Given the description of an element on the screen output the (x, y) to click on. 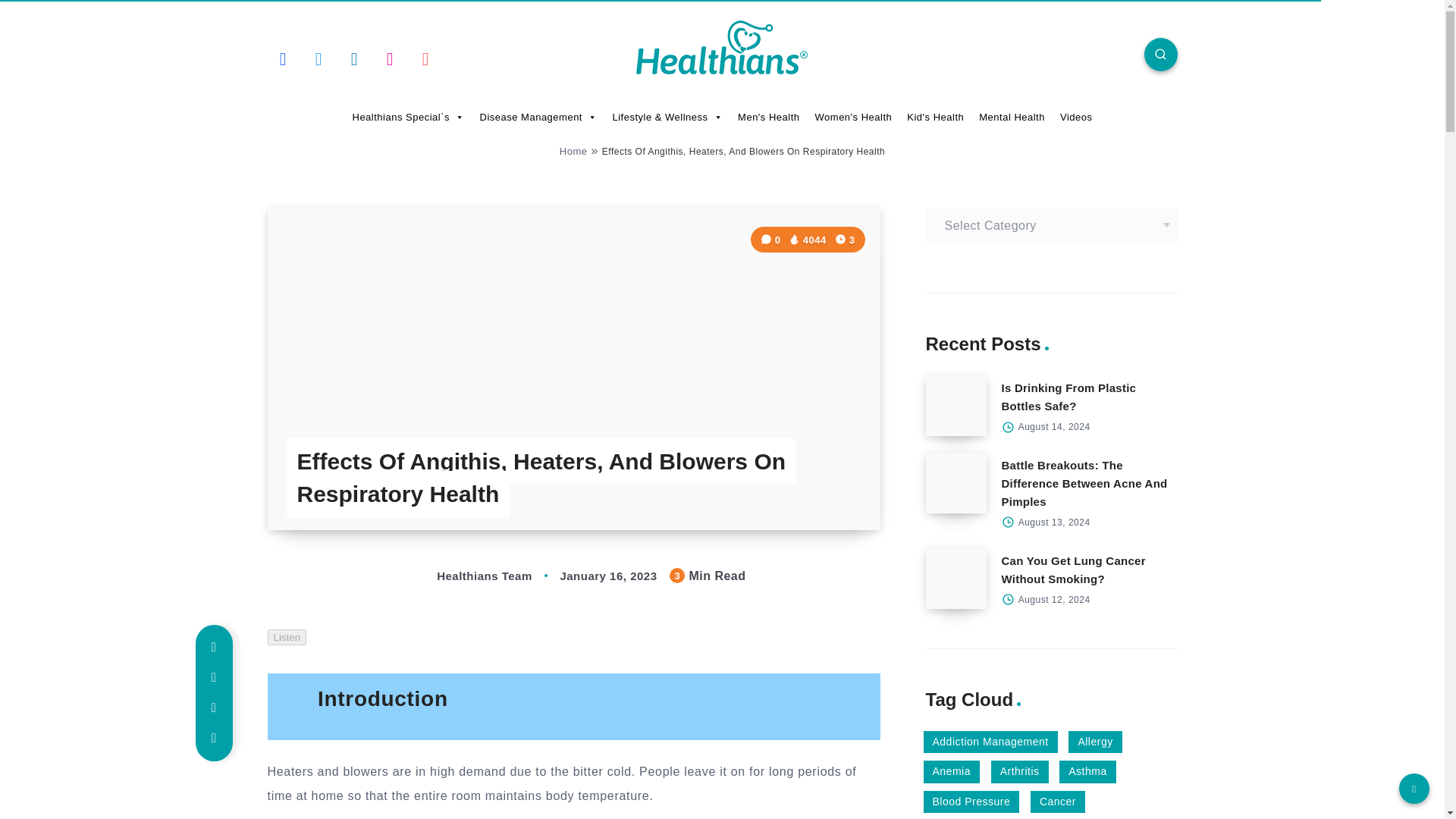
3 Min Read (845, 239)
4044 Views (808, 239)
Author: Healthians Team (468, 575)
0 Comments (772, 239)
